Given the description of an element on the screen output the (x, y) to click on. 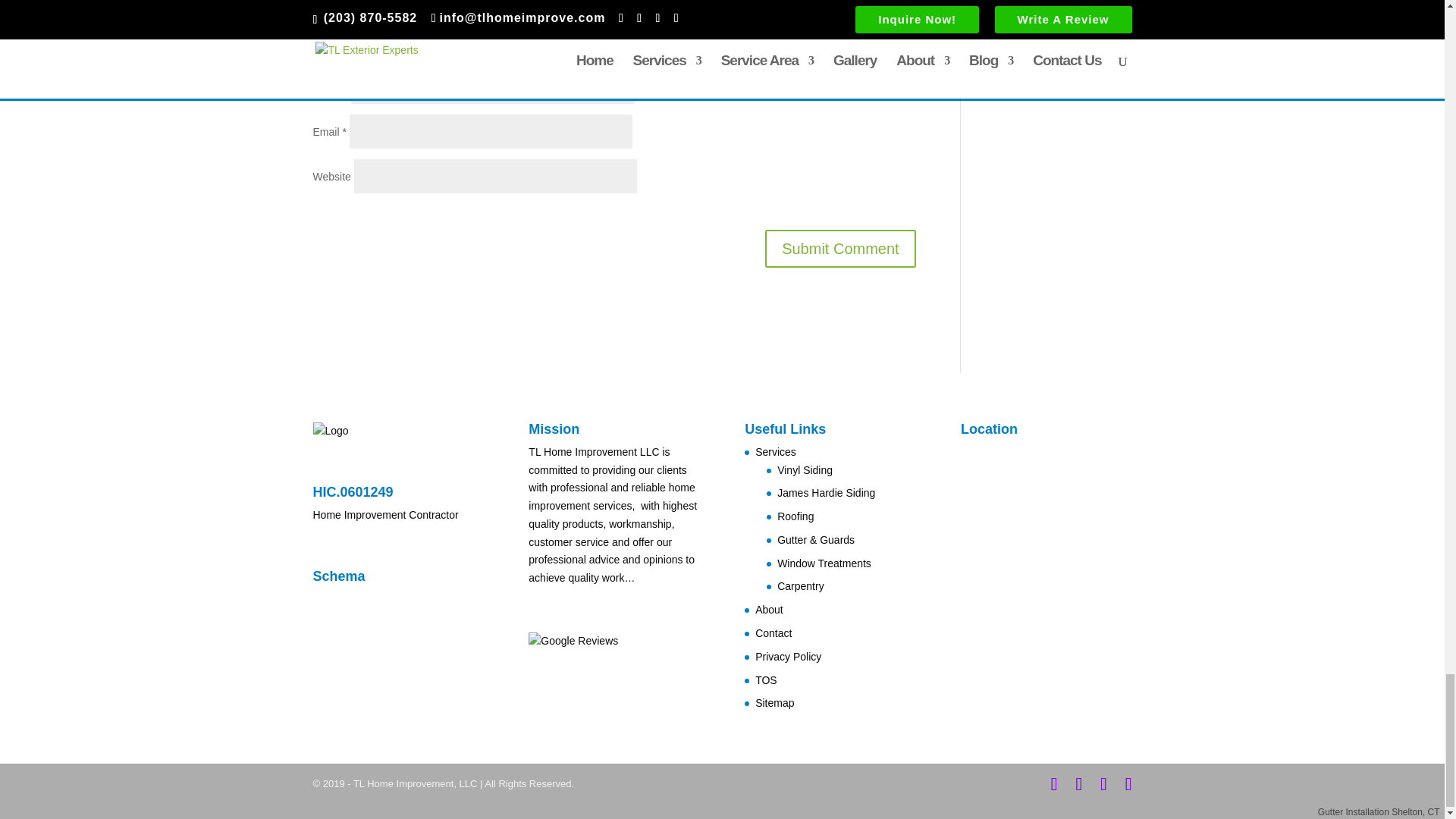
Submit Comment (840, 248)
